Given the description of an element on the screen output the (x, y) to click on. 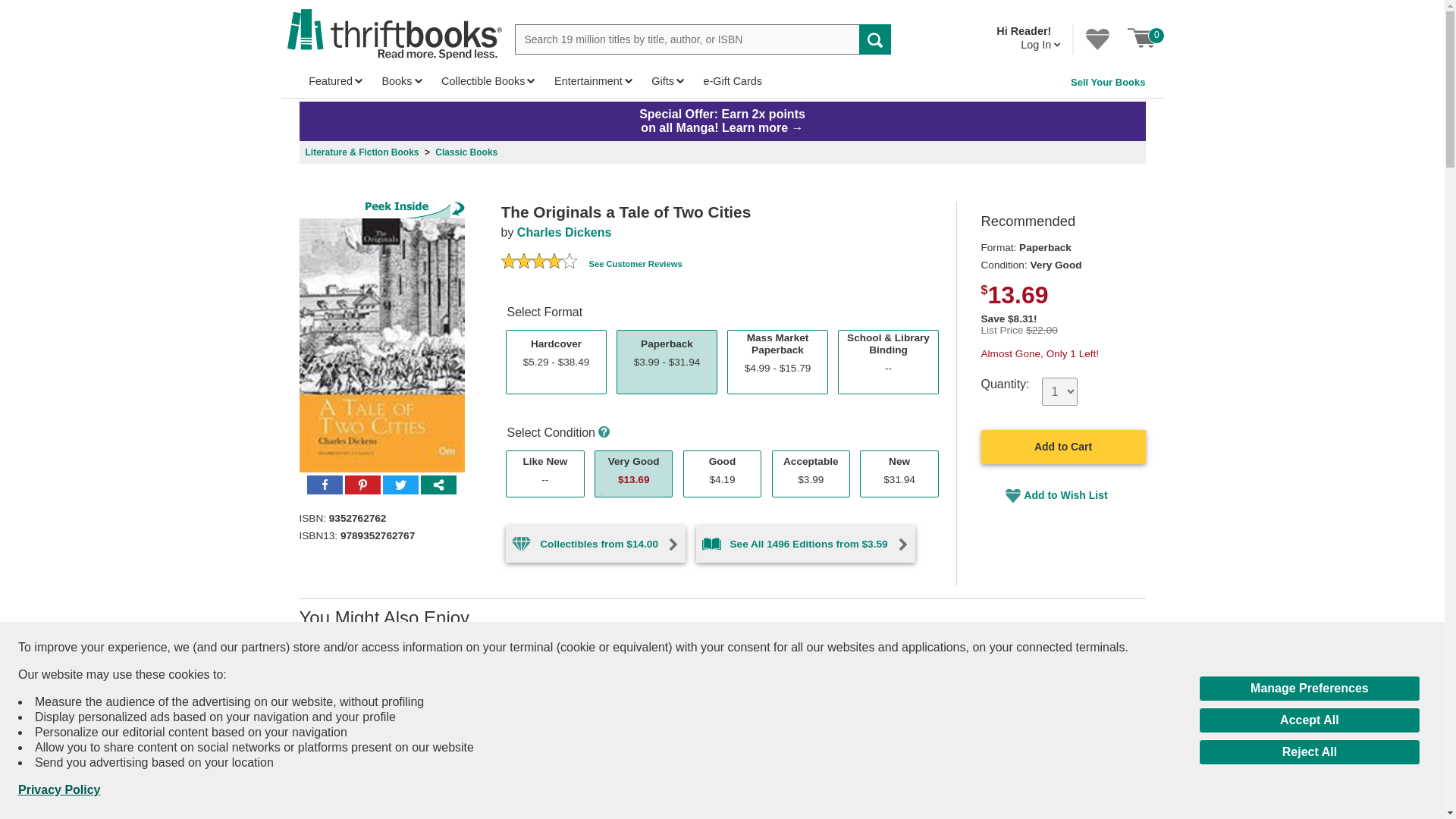
Manage Preferences (1309, 688)
Log in to rate this book (553, 264)
Privacy Policy (58, 789)
Log in to rate this book (507, 264)
Log in to rate this book (1141, 38)
Log in to rate this book (568, 264)
Log in to rate this book (538, 264)
Books (523, 264)
Reject All (402, 81)
Accept All (1309, 751)
